Given the description of an element on the screen output the (x, y) to click on. 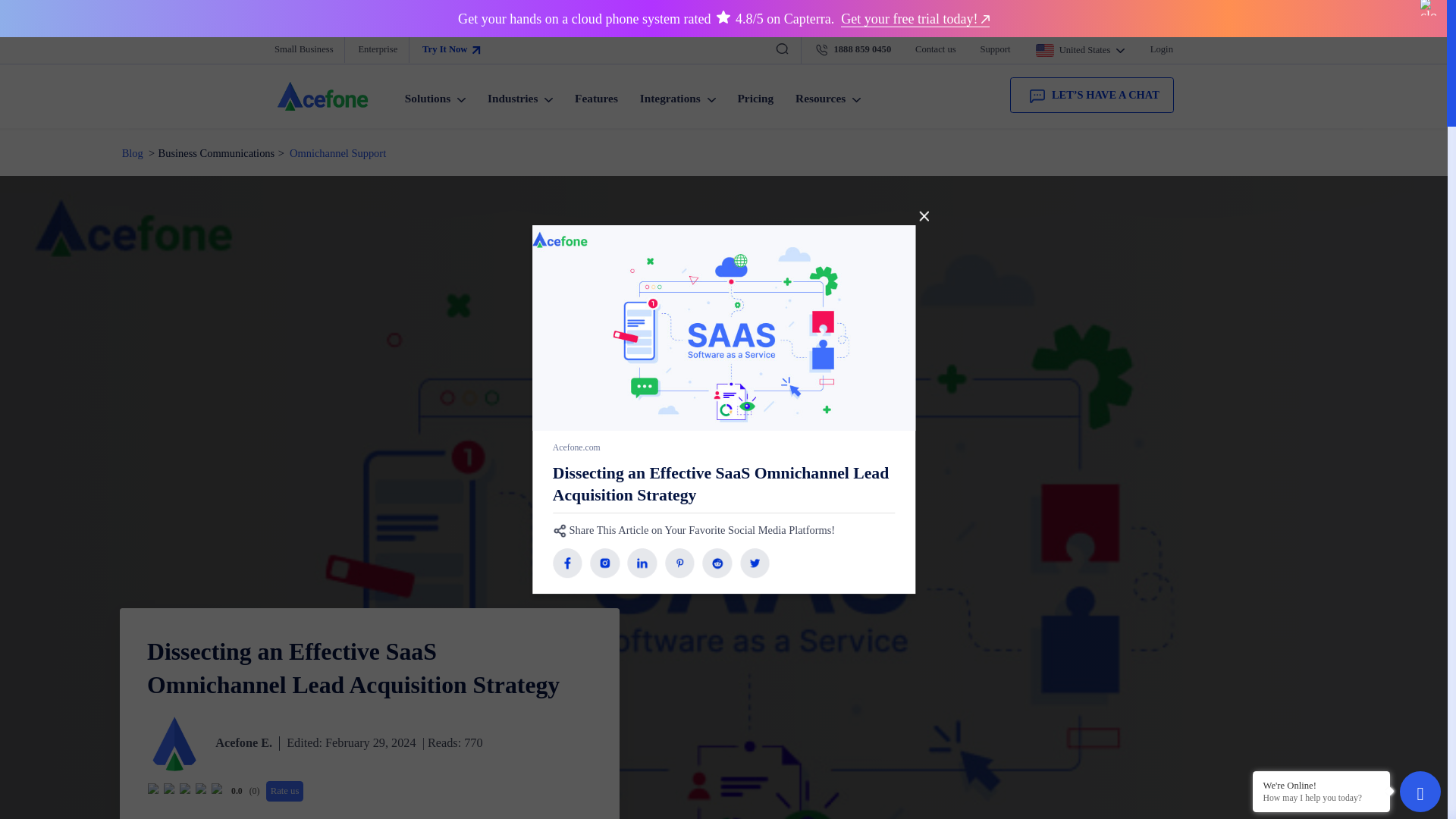
Small Business (336, 55)
Blog (146, 170)
1888 859 0450 (944, 54)
Support (1102, 54)
Login (1287, 54)
Search (15, 27)
Solutions (481, 106)
Industries (575, 106)
Features (660, 106)
Contact us (1035, 54)
Get your free trial today! (1013, 20)
Integrations (751, 106)
Enterprise (417, 55)
Try It Now (499, 55)
United States (1197, 55)
